Given the description of an element on the screen output the (x, y) to click on. 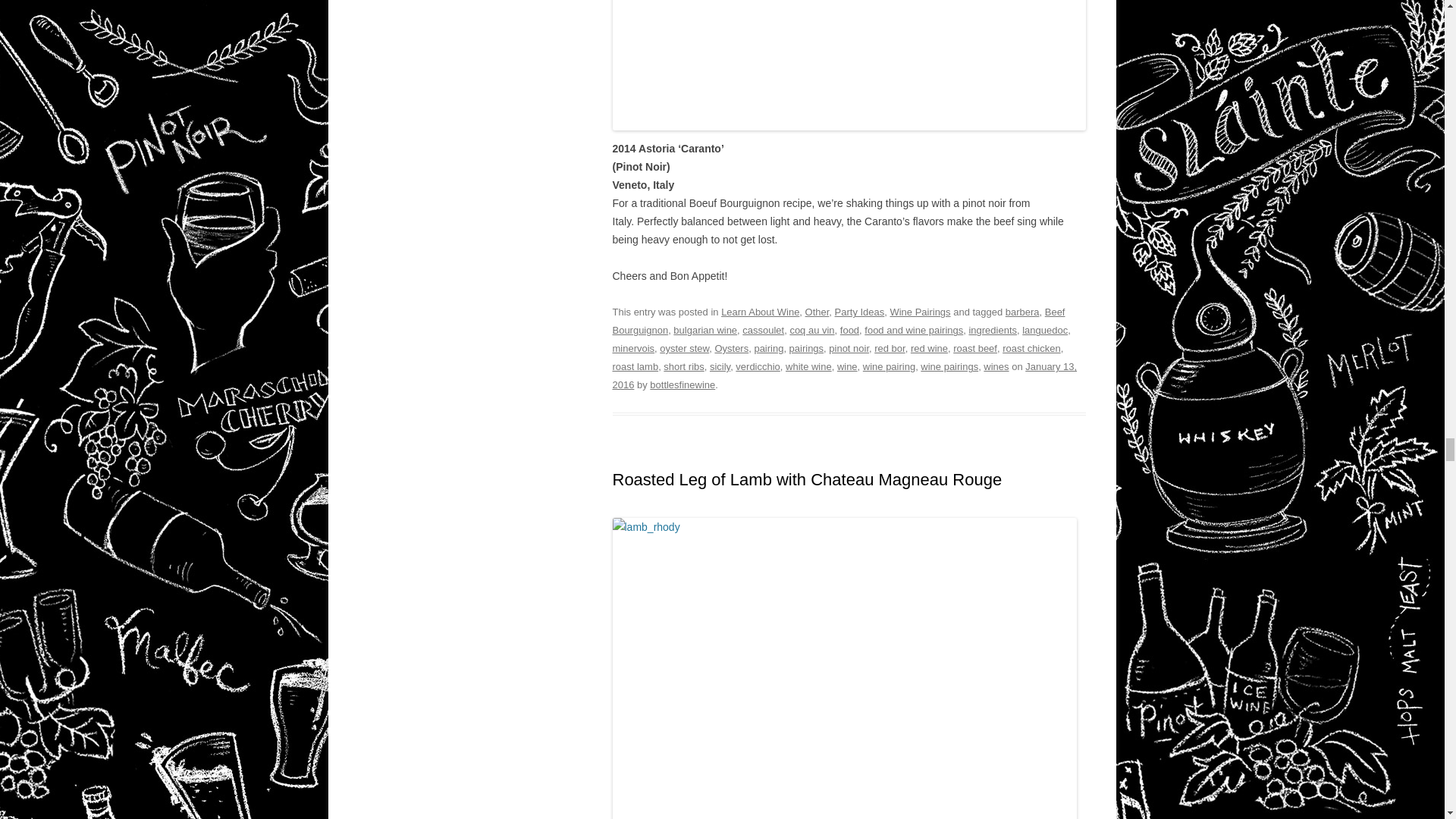
View all posts by bottlesfinewine (681, 384)
5:17 PM (844, 375)
